Given the description of an element on the screen output the (x, y) to click on. 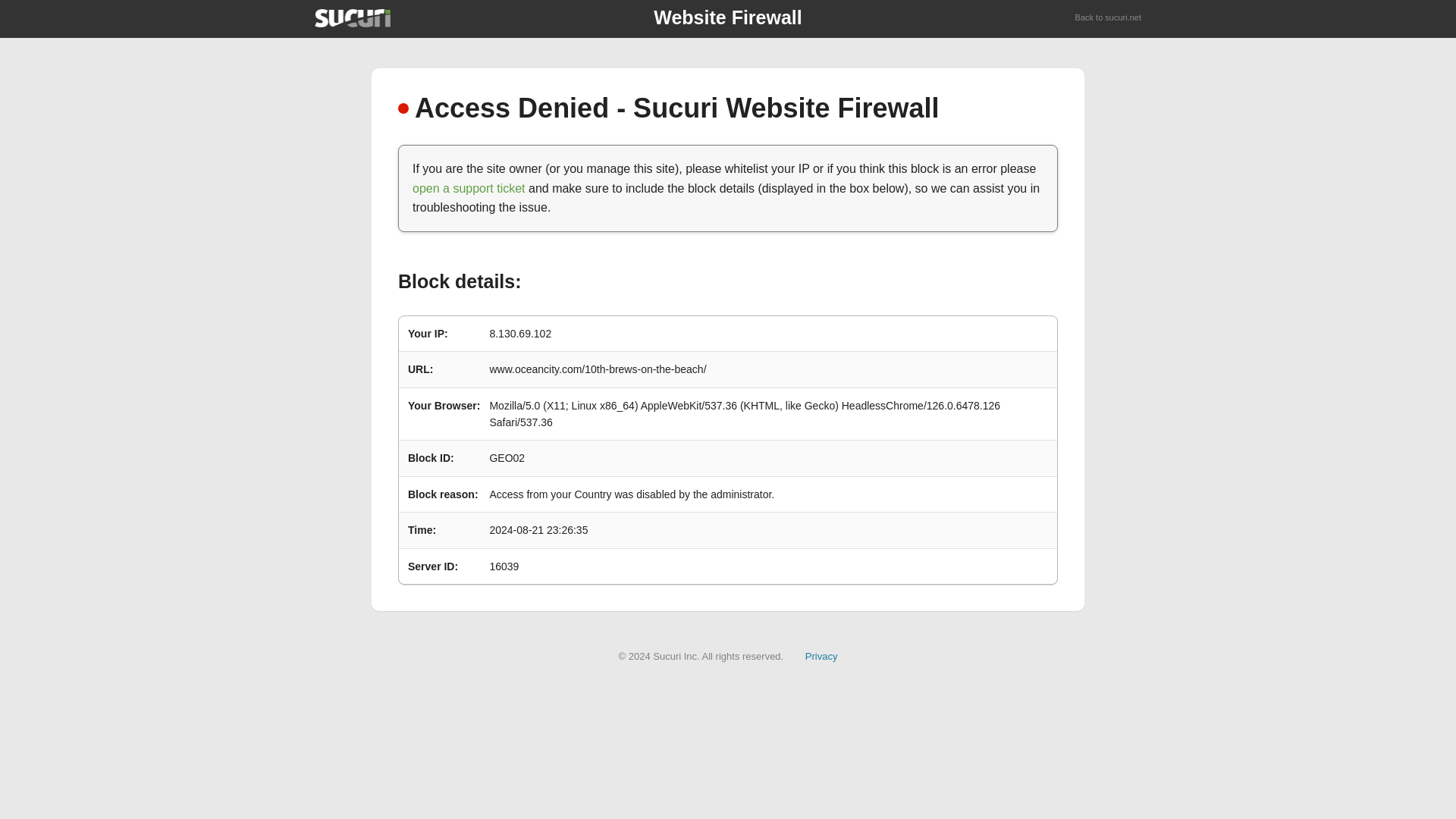
open a support ticket (468, 187)
Privacy (821, 655)
Back to sucuri.net (1108, 18)
